Given the description of an element on the screen output the (x, y) to click on. 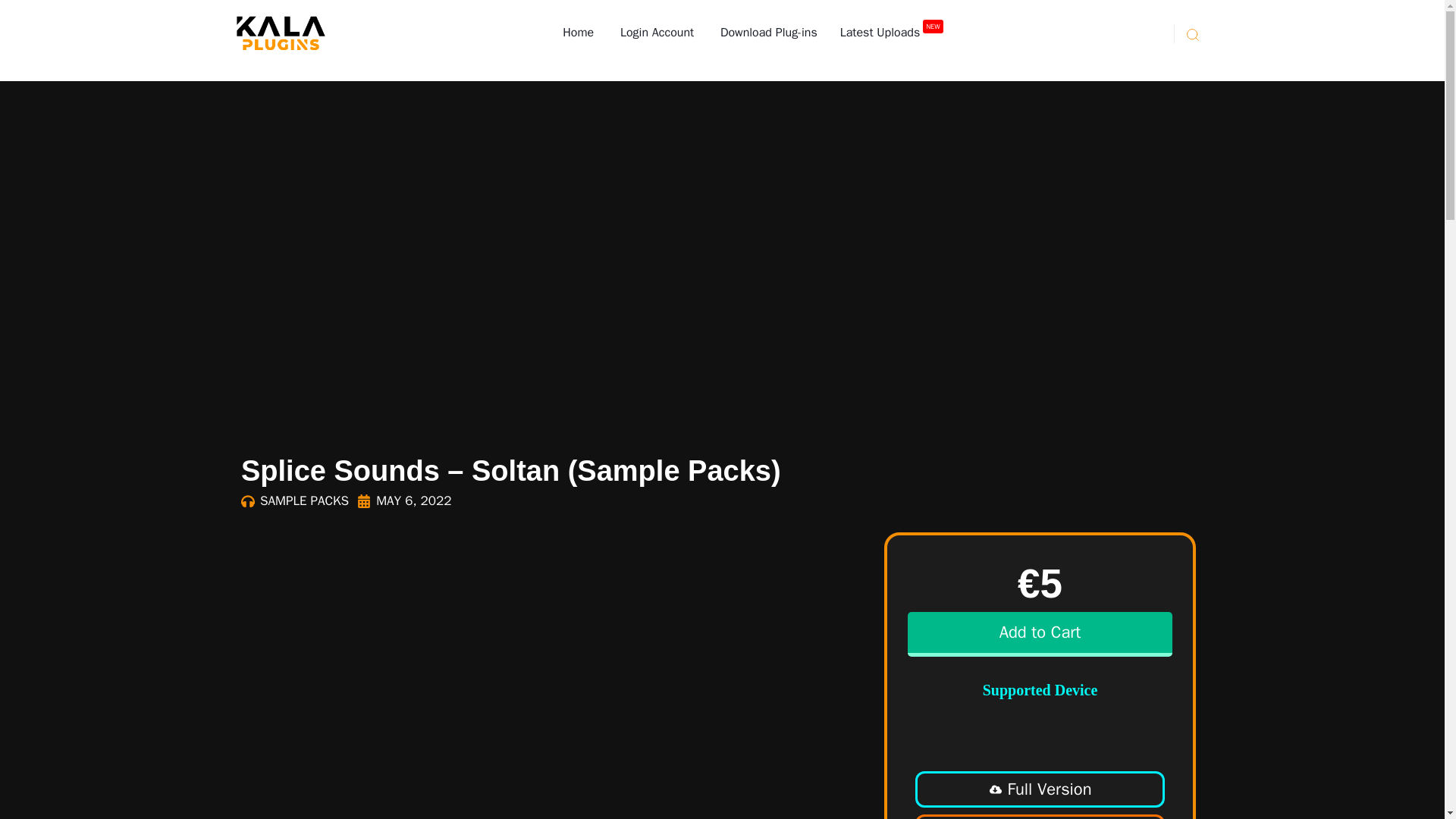
SAMPLE PACKS (304, 500)
MAY 6, 2022 (403, 500)
Latest UploadsNEW (891, 33)
Add to Cart (1039, 633)
Download Plug-ins (766, 32)
Login Account (654, 32)
